Given the description of an element on the screen output the (x, y) to click on. 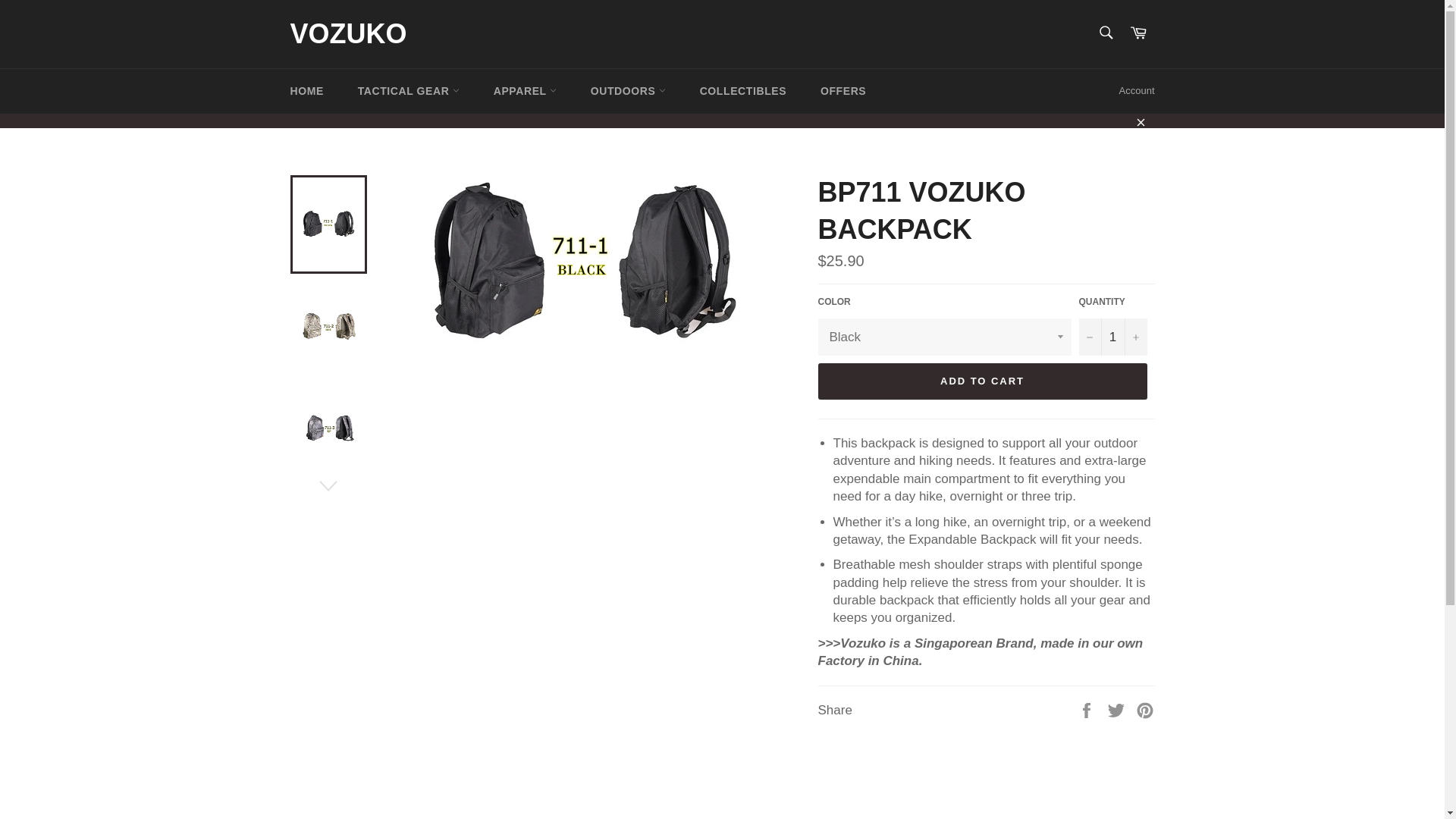
Pin on Pinterest (1144, 709)
Search (1104, 32)
Cart (1138, 33)
APPAREL (525, 90)
VOZUKO (347, 34)
Tweet on Twitter (1117, 709)
1 (1112, 336)
HOME (306, 90)
Share on Facebook (1088, 709)
TACTICAL GEAR (408, 90)
